Given the description of an element on the screen output the (x, y) to click on. 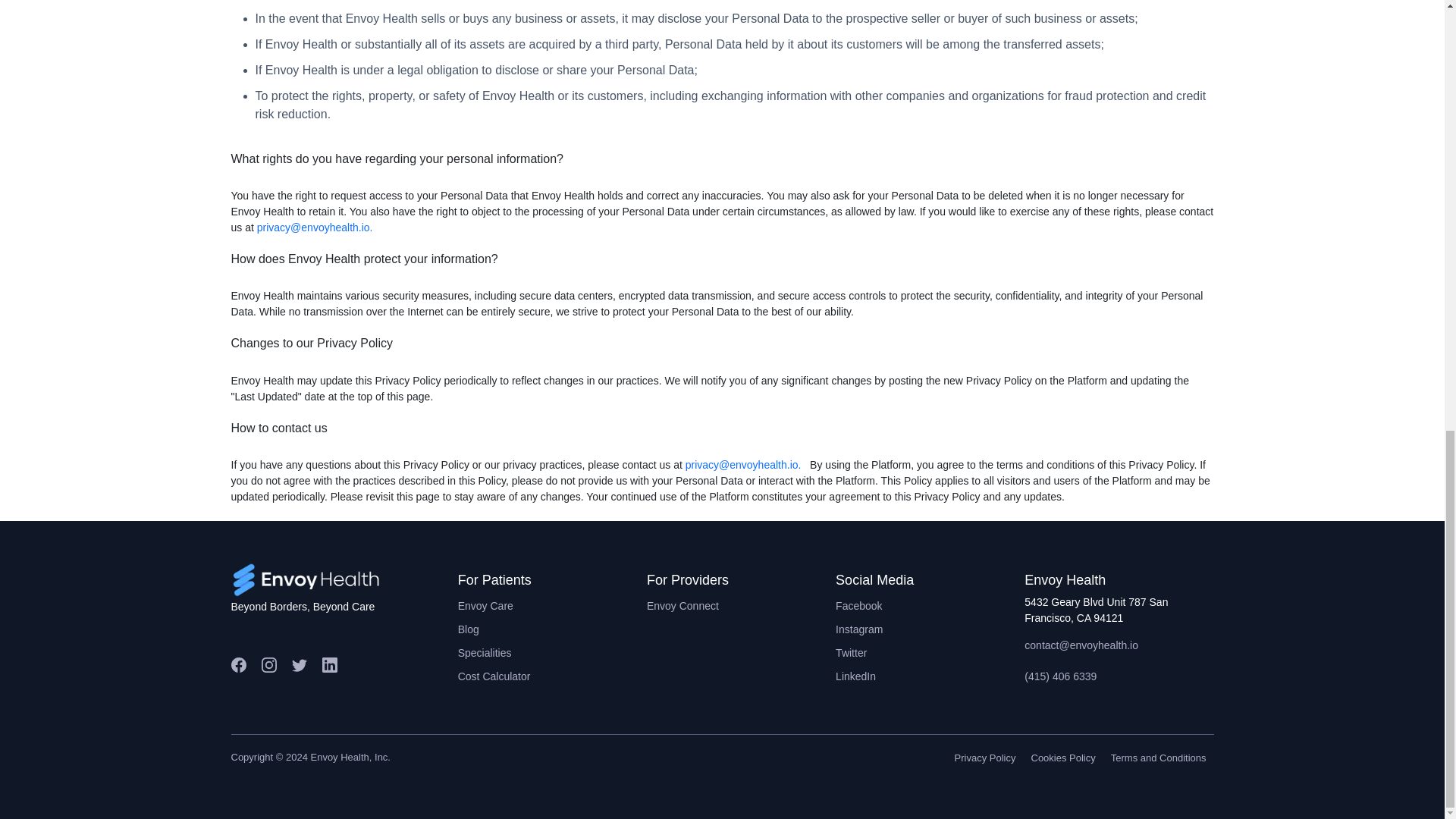
Specialities (552, 653)
Instagram (930, 629)
Envoy Connect (740, 606)
Twitter (930, 653)
Envoy Care (552, 606)
Cost Calculator (552, 676)
Cookies Policy (1063, 757)
Privacy Policy (985, 757)
LinkedIn (930, 676)
Facebook (930, 606)
